Given the description of an element on the screen output the (x, y) to click on. 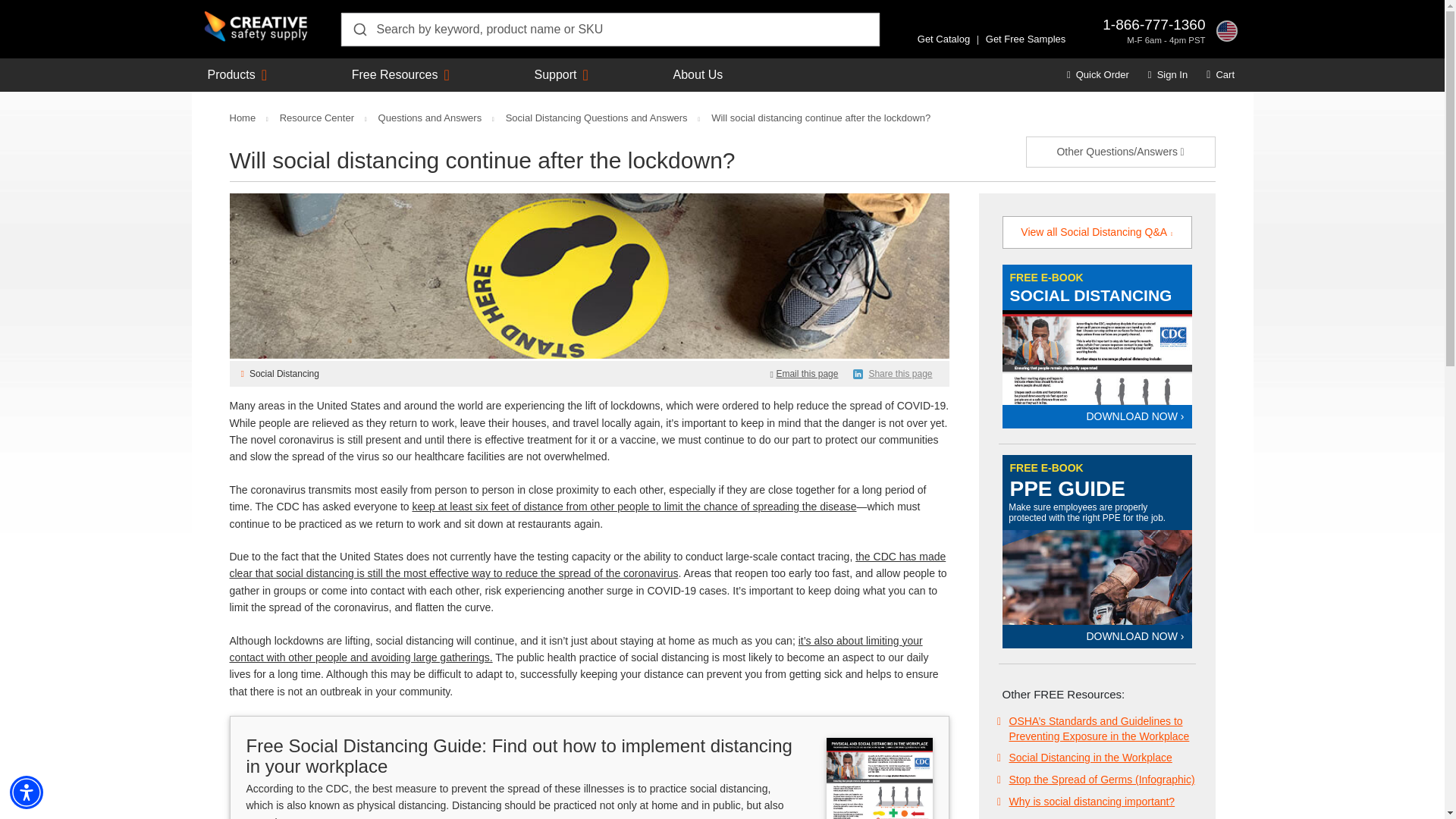
Get Catalog (943, 39)
1-866-777-1360 (1153, 24)
Get Free Samples (1025, 39)
Products (232, 74)
Submit (358, 29)
Creative Safety Supply logo (255, 26)
Accessibility Menu (26, 792)
